Given the description of an element on the screen output the (x, y) to click on. 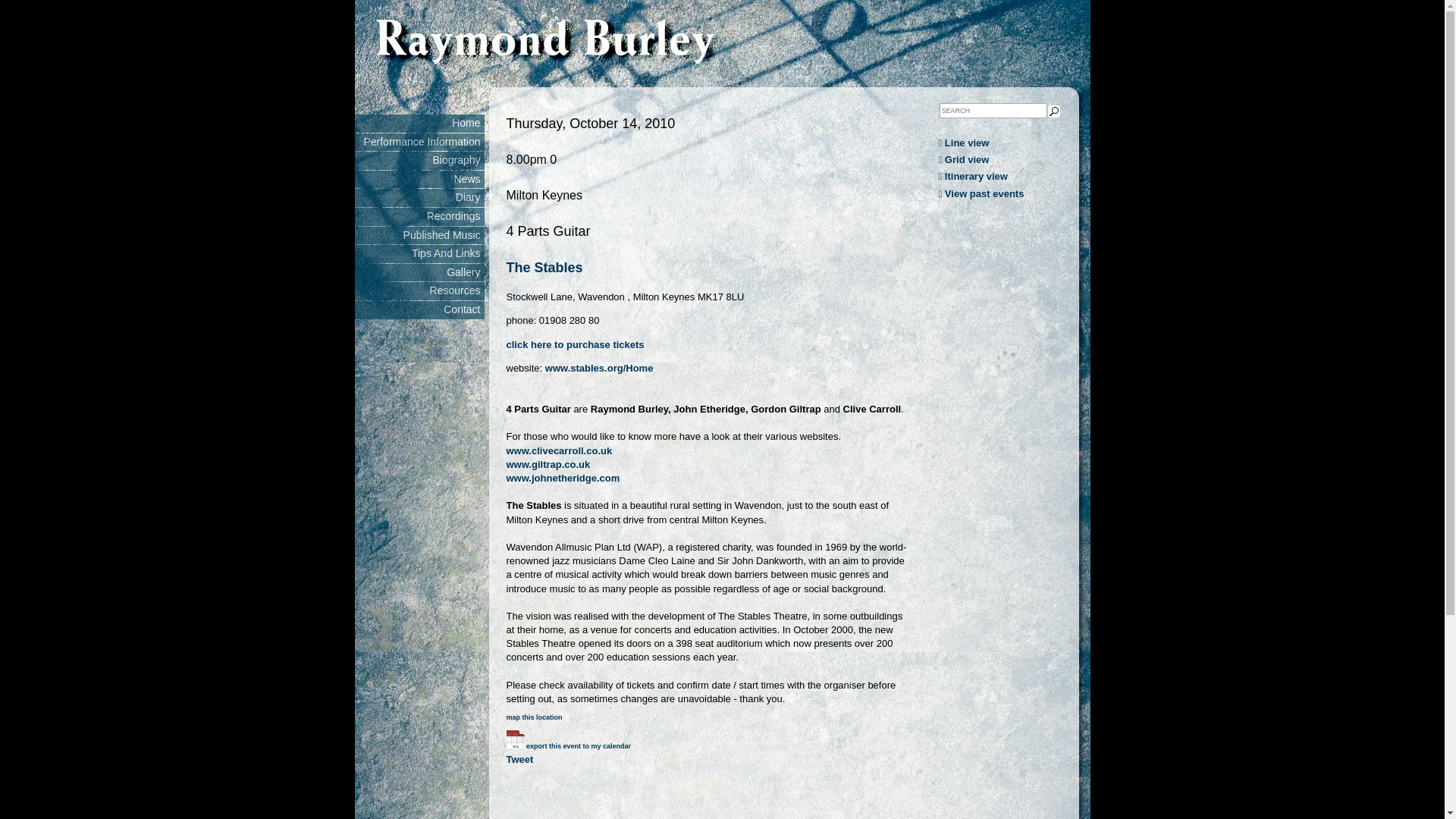
Tweet (520, 759)
www.johnetheridge.com (563, 478)
Line view (1007, 143)
Diary (419, 198)
News (419, 179)
Gallery (419, 272)
click here to purchase tickets (575, 344)
Contact (419, 310)
Grid view (1007, 159)
View past events (1007, 193)
